Given the description of an element on the screen output the (x, y) to click on. 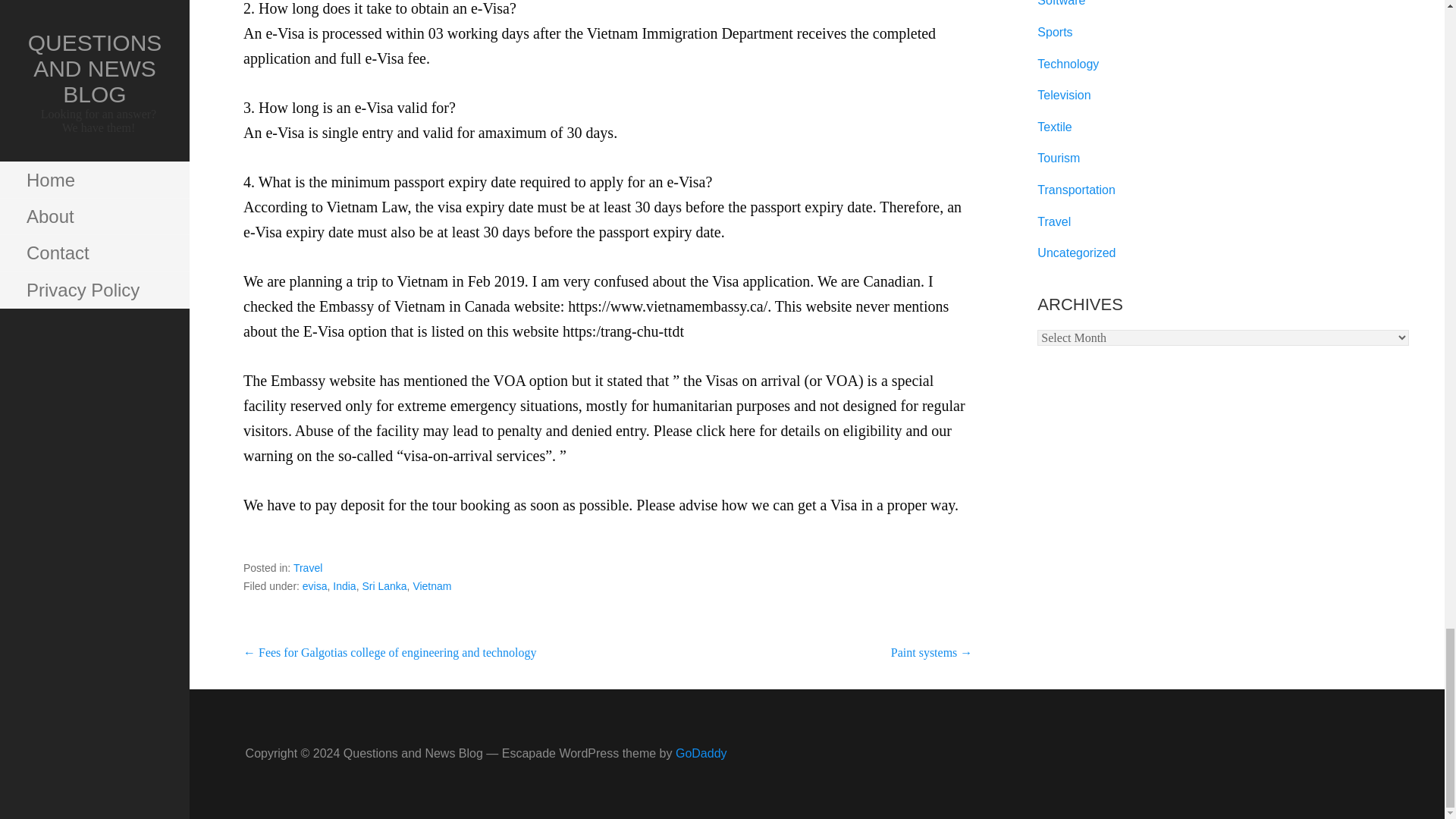
India (344, 585)
Vietnam (431, 585)
evisa (314, 585)
Sri Lanka (383, 585)
Travel (307, 567)
